Given the description of an element on the screen output the (x, y) to click on. 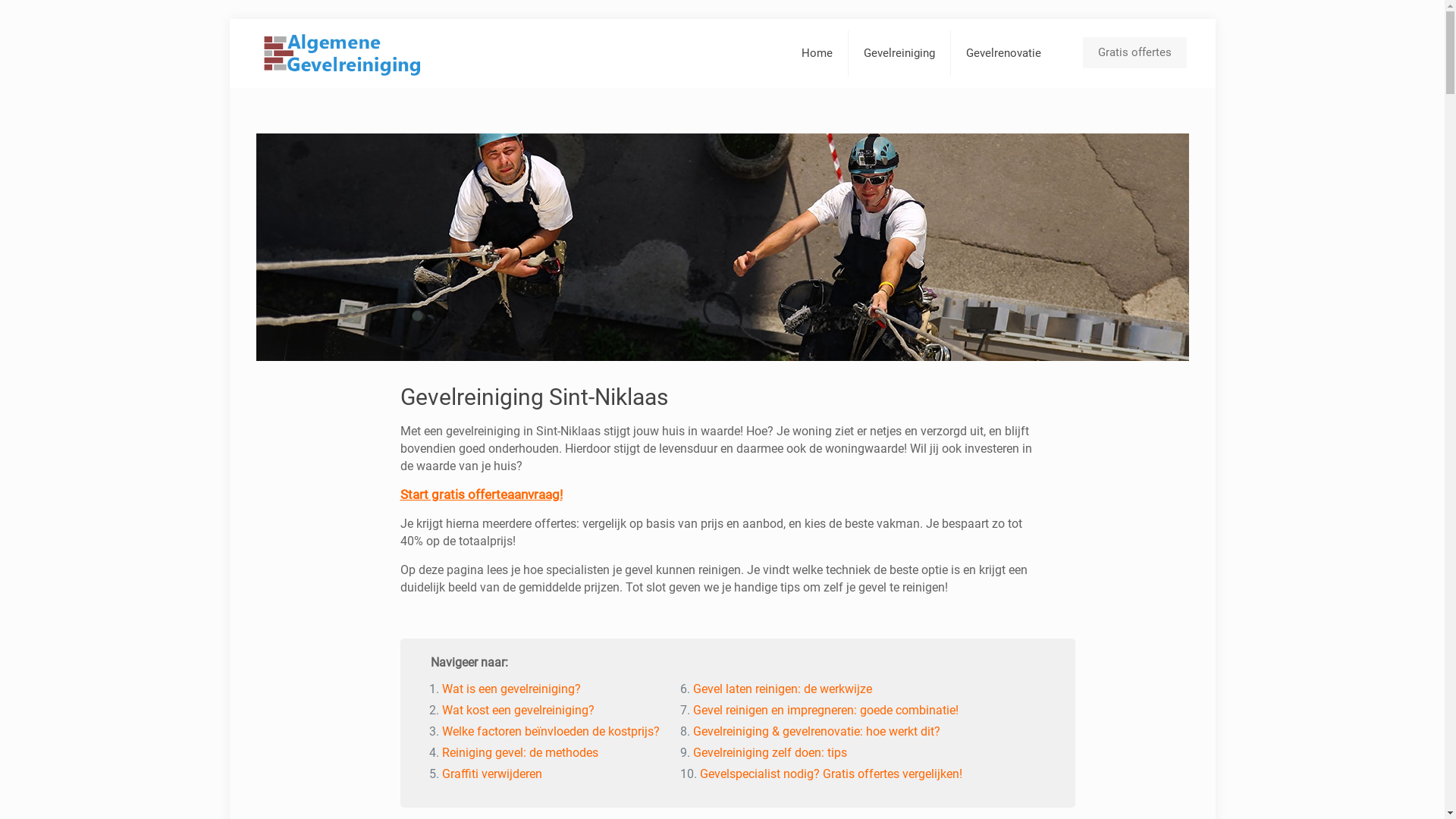
Gratis offertes Element type: text (1134, 52)
Gevelrenovatie Element type: text (1003, 52)
Gevelreiniging Element type: text (899, 52)
Wat is een gevelreiniging? Element type: text (511, 688)
Home Element type: text (817, 52)
Gevel laten reinigen: de werkwijze Element type: text (782, 688)
Gevel reinigen en impregneren: goede combinatie! Element type: text (825, 709)
Graffiti verwijderen Element type: text (492, 773)
Gevelreiniging zelf doen: tips Element type: text (770, 752)
Wat kost een gevelreiniging? Element type: text (518, 709)
Start gratis offerteaanvraag! Element type: text (481, 494)
Gevelreiniging Element type: hover (340, 52)
Gevelreiniging & gevelrenovatie: hoe werkt dit? Element type: text (816, 731)
Reiniging gevel: de methodes Element type: text (520, 752)
Gevelspecialist nodig? Gratis offertes vergelijken! Element type: text (830, 773)
